Given the description of an element on the screen output the (x, y) to click on. 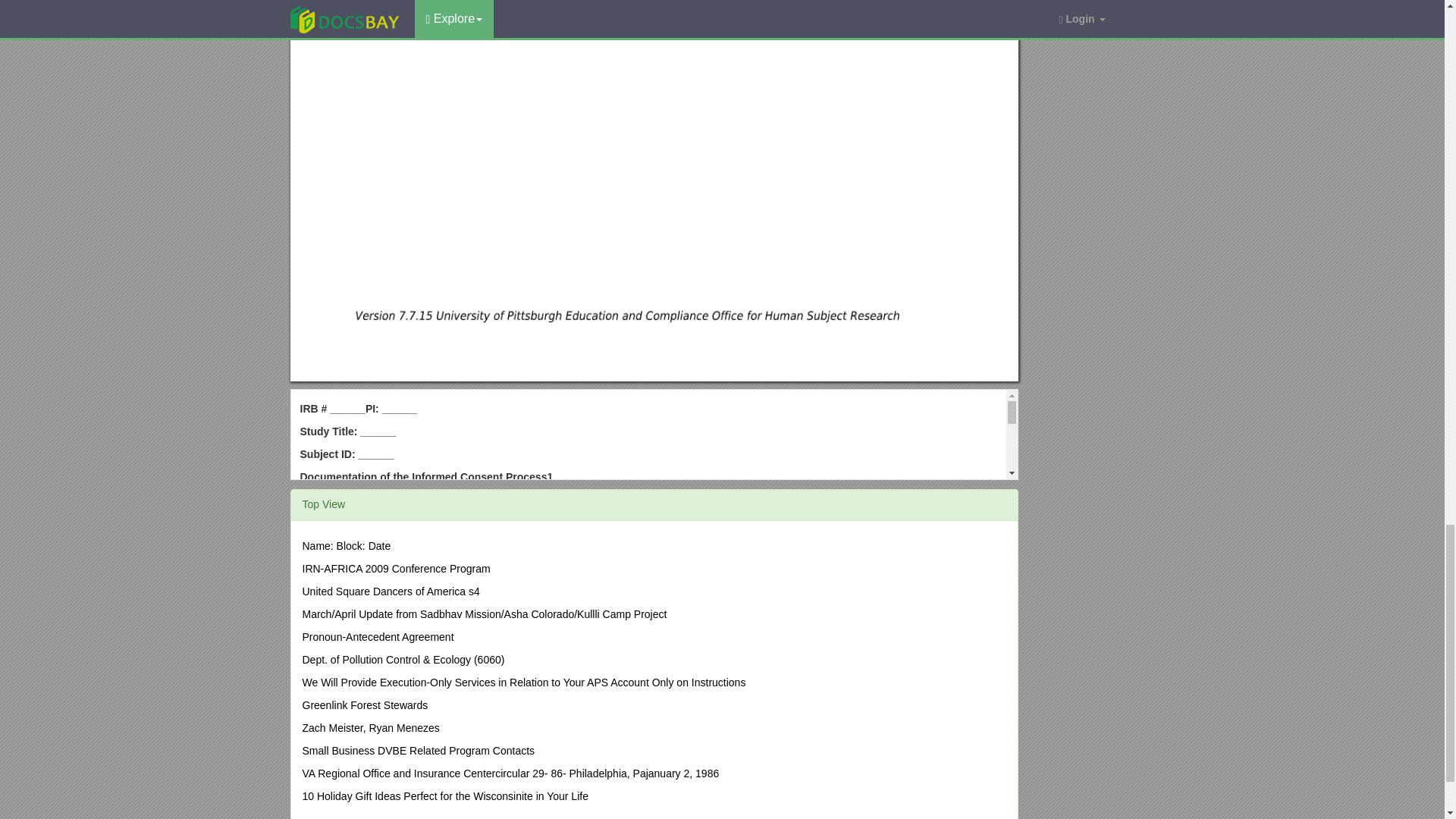
Zach Meister, Ryan Menezes (370, 727)
United Square Dancers of America s4 (390, 591)
Pronoun-Antecedent Agreement (376, 636)
Greenlink Forest Stewards (364, 705)
IRN-AFRICA 2009 Conference Program (395, 568)
Name: Block: Date (345, 545)
Small Business DVBE Related Program Contacts (417, 750)
